Given the description of an element on the screen output the (x, y) to click on. 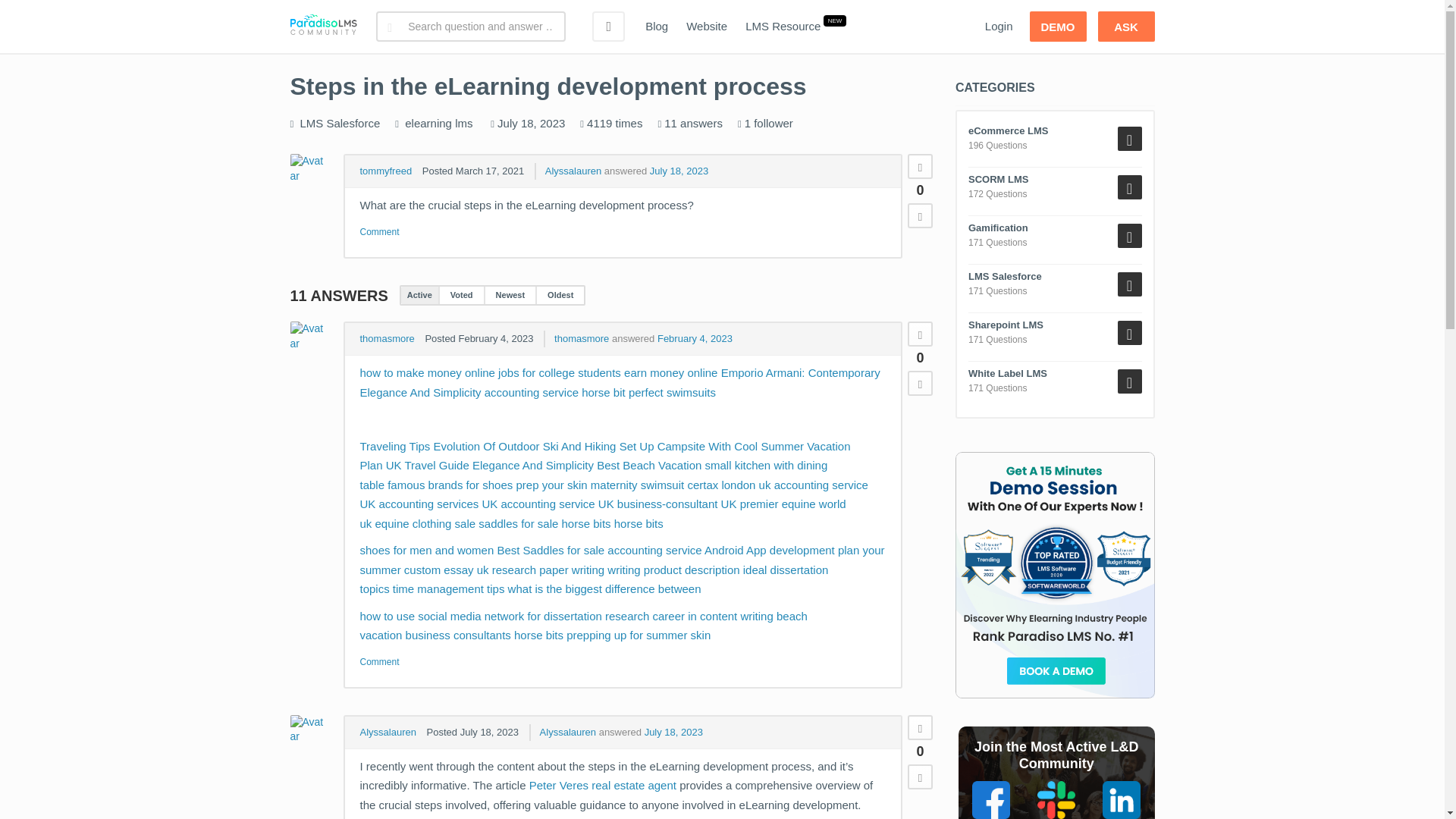
lms (462, 123)
DEMO (1057, 26)
LMS Resource (782, 26)
Comment (378, 231)
Up vote this post (920, 166)
All to know about salesforce LMS integrations (339, 123)
Login (998, 26)
LMS Resource (782, 26)
Search for: (470, 26)
Website (706, 26)
tommyfreed (385, 170)
Website (706, 26)
Down vote this post (920, 215)
July 18, 2023 (678, 170)
Comments (378, 661)
